Given the description of an element on the screen output the (x, y) to click on. 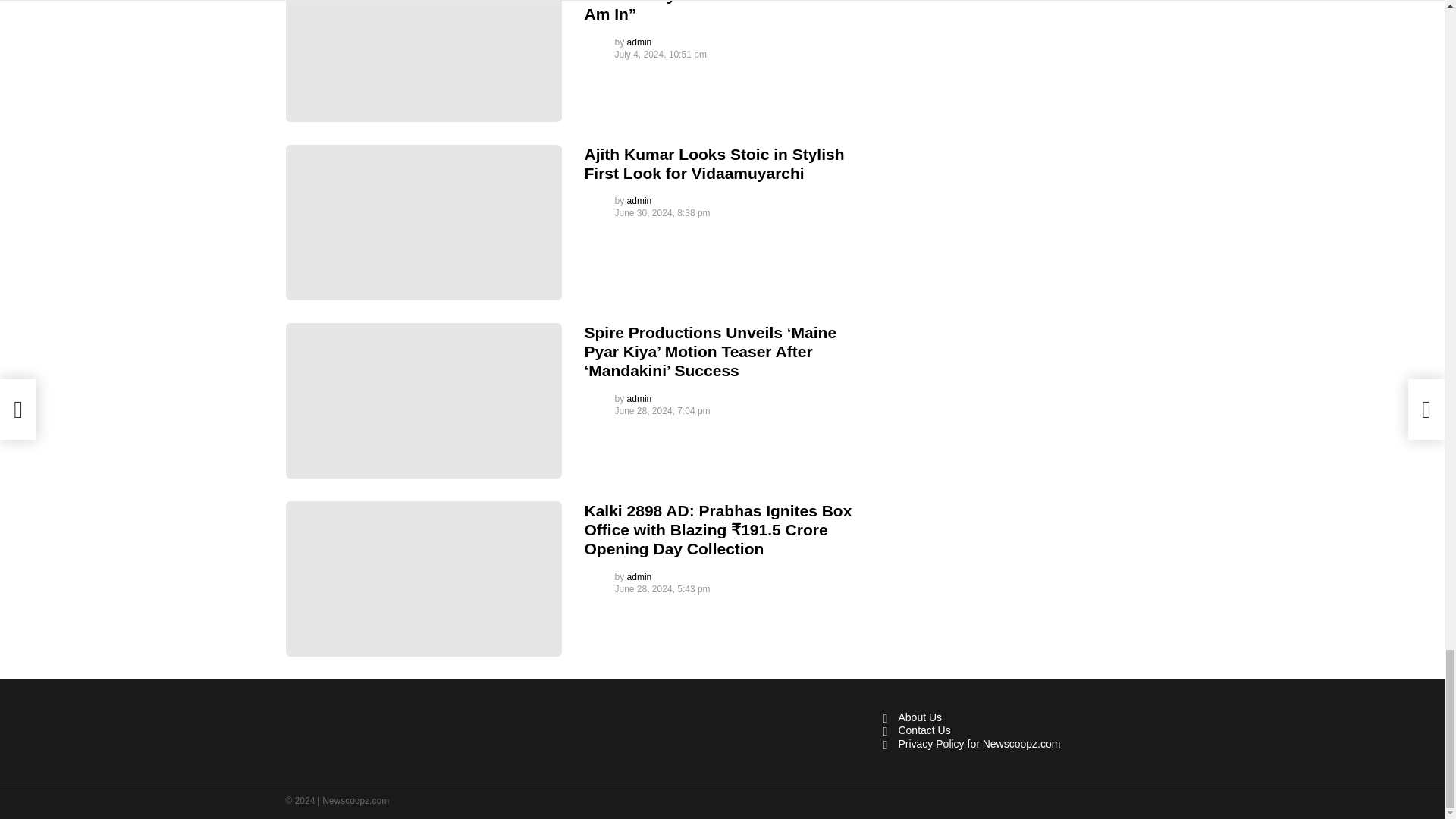
Posts by admin (639, 41)
